Given the description of an element on the screen output the (x, y) to click on. 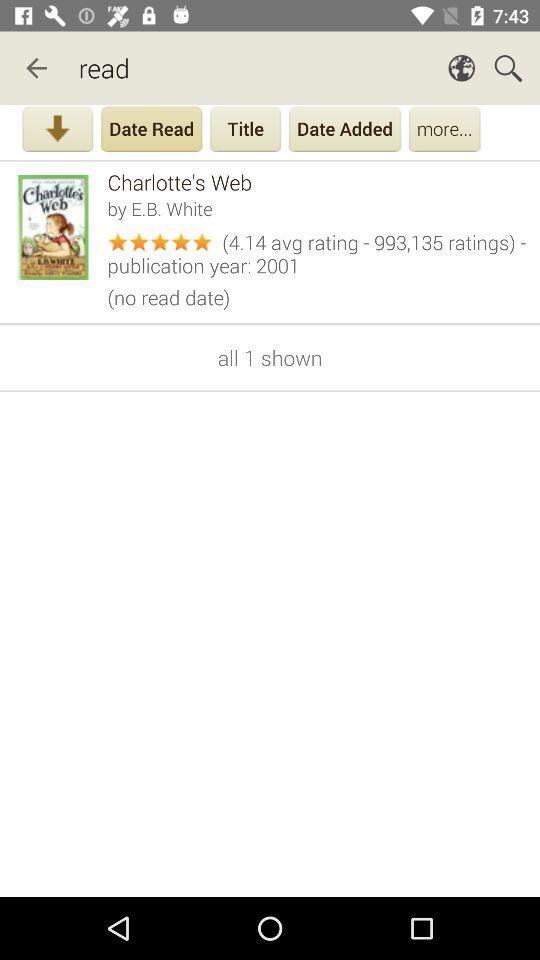
choose icon to the left of charlotte's web (57, 227)
